Given the description of an element on the screen output the (x, y) to click on. 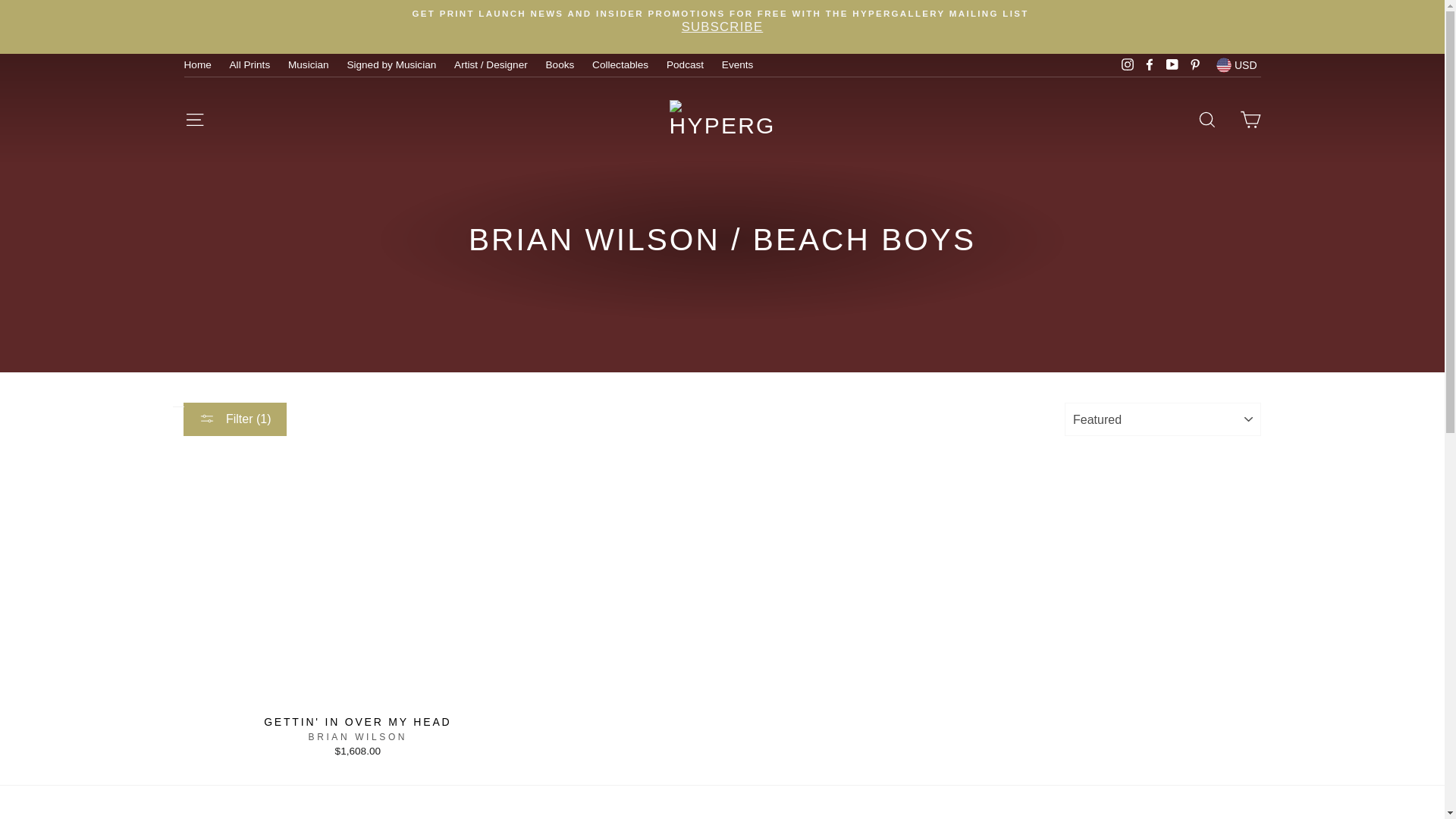
Hypergallery on Instagram (1127, 65)
Hypergallery on YouTube (1171, 65)
Hypergallery on Facebook (1149, 65)
Hypergallery on Pinterest (1195, 65)
